Given the description of an element on the screen output the (x, y) to click on. 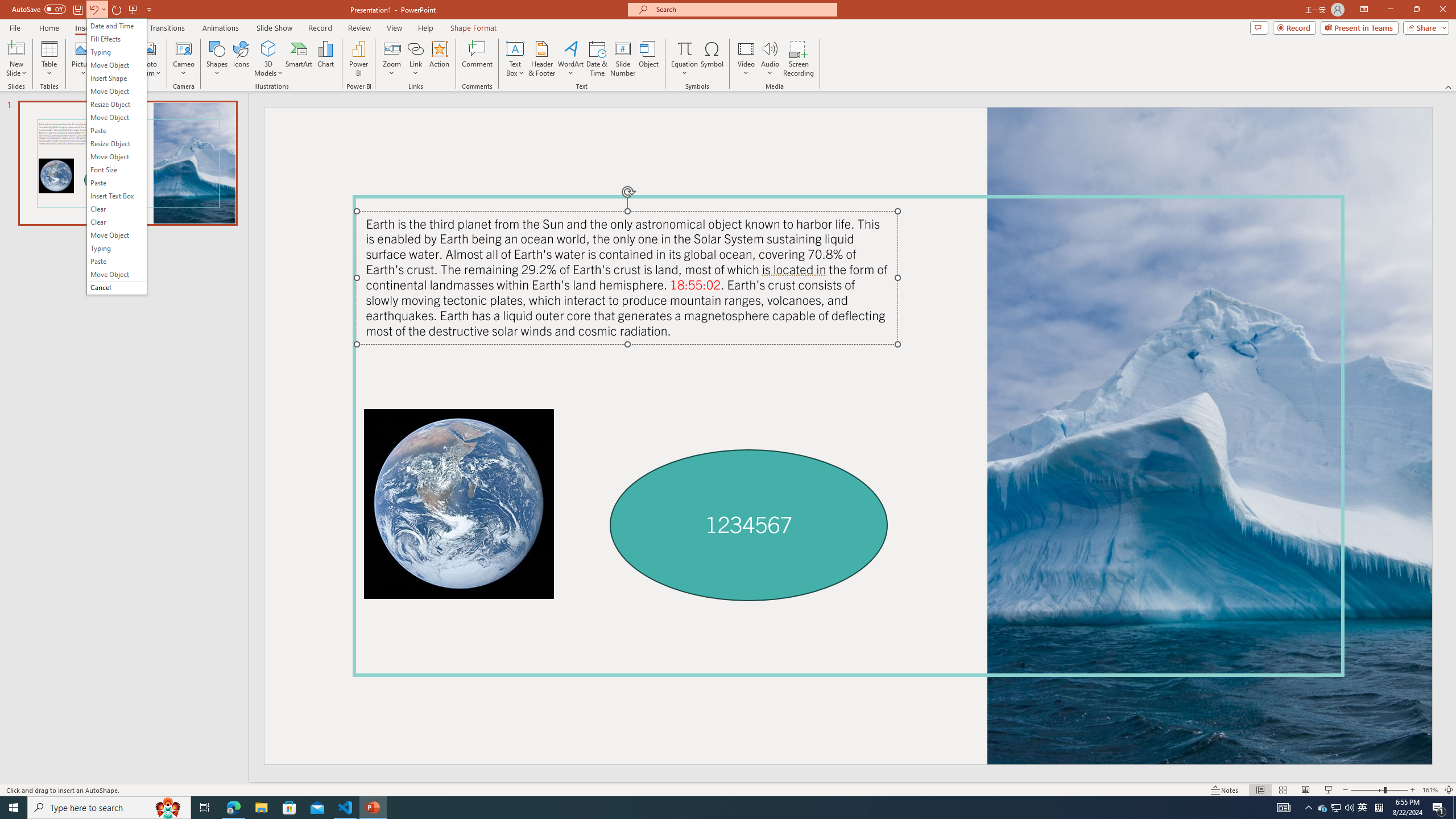
Audio (769, 58)
Collapse the Ribbon (1448, 86)
User Promoted Notification Area (1336, 807)
3D Models (268, 58)
View (395, 28)
Symbol... (711, 58)
Power BI (358, 58)
Zoom Out (1367, 790)
Text Box (515, 58)
Microsoft search (742, 9)
Notes  (1225, 790)
